Given the description of an element on the screen output the (x, y) to click on. 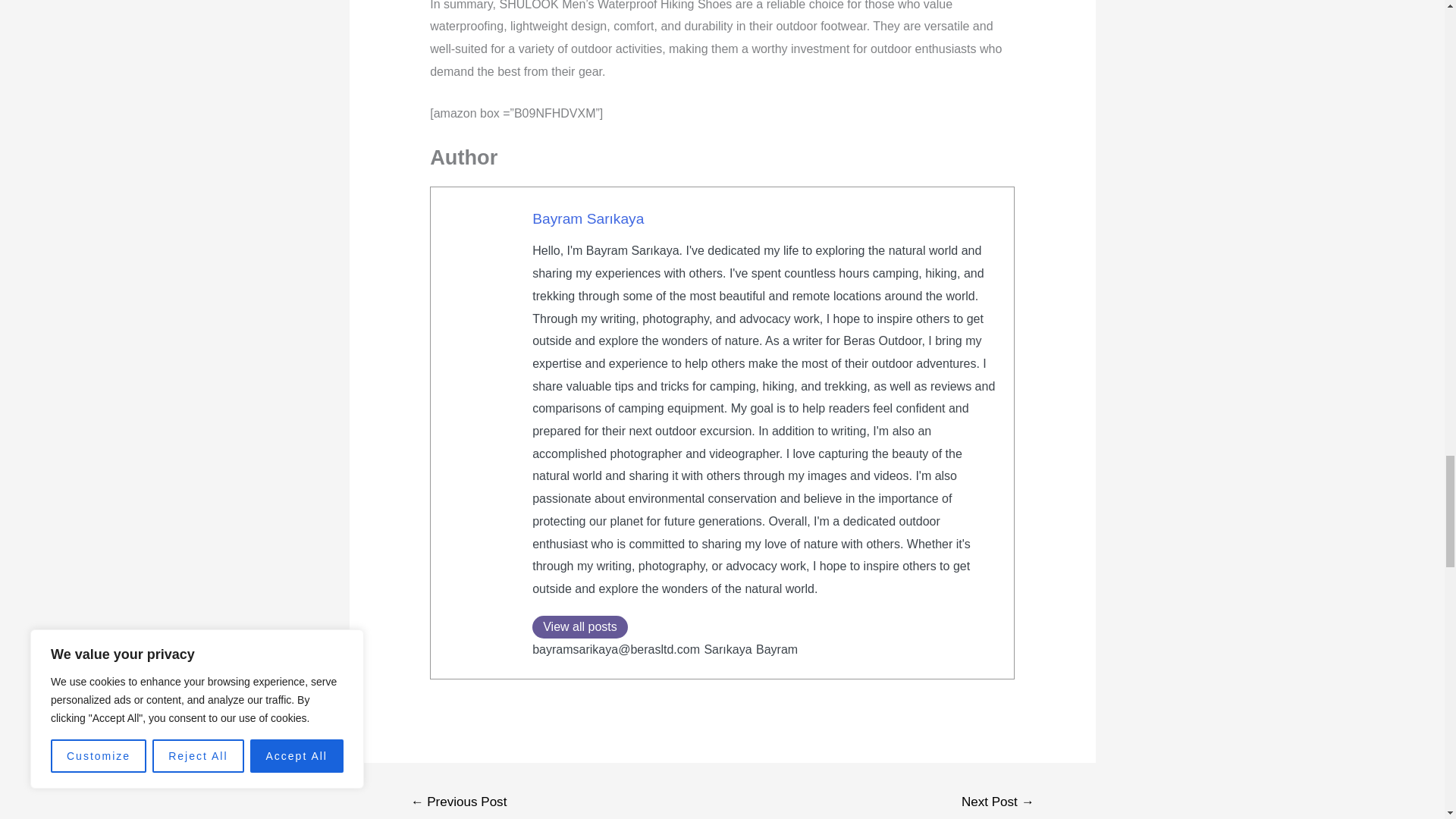
View all posts (579, 626)
View all posts (579, 626)
